Given the description of an element on the screen output the (x, y) to click on. 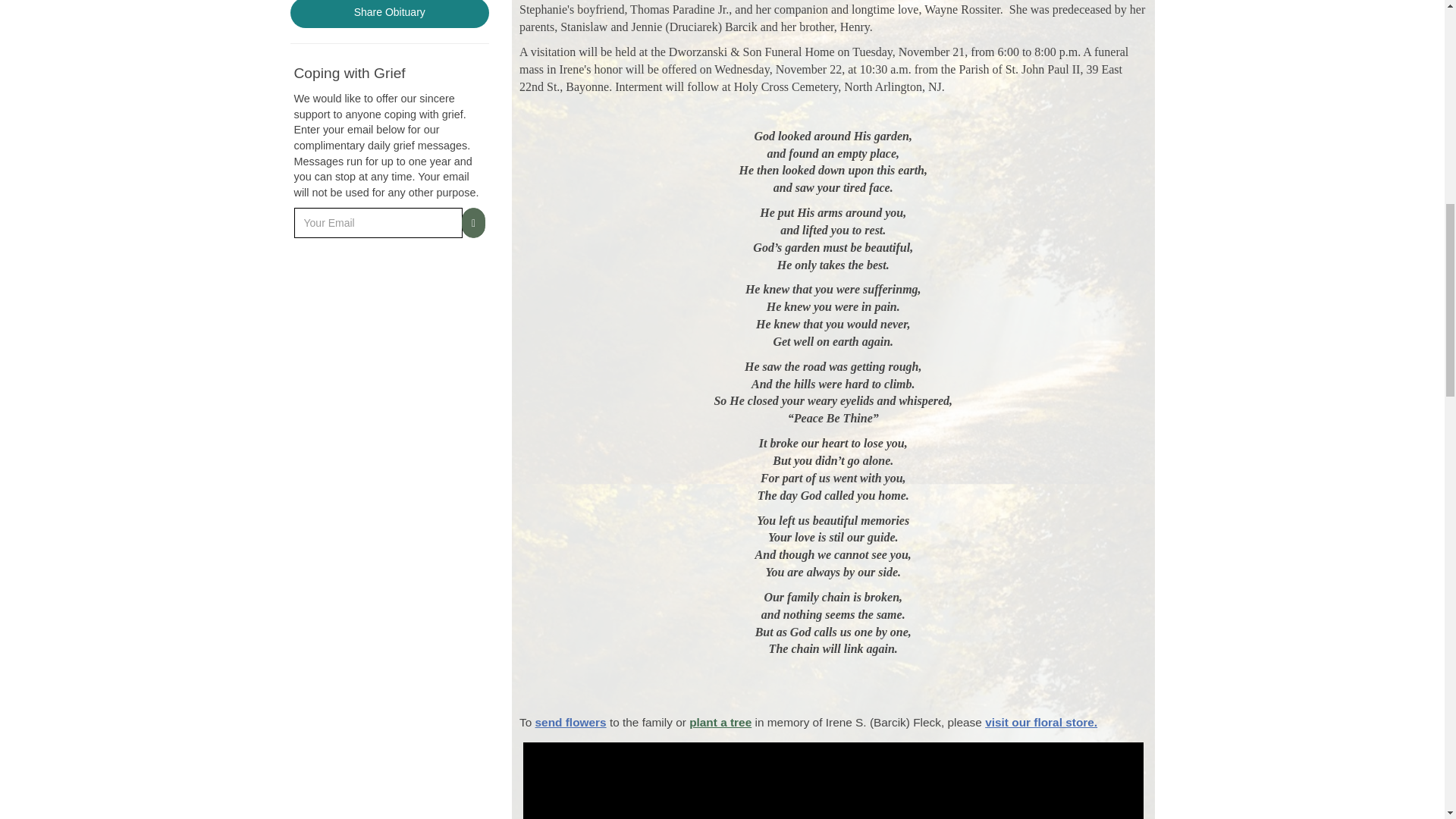
Share Obituary (389, 13)
plant a tree (719, 721)
send flowers (571, 721)
visit our floral store. (1041, 721)
